Given the description of an element on the screen output the (x, y) to click on. 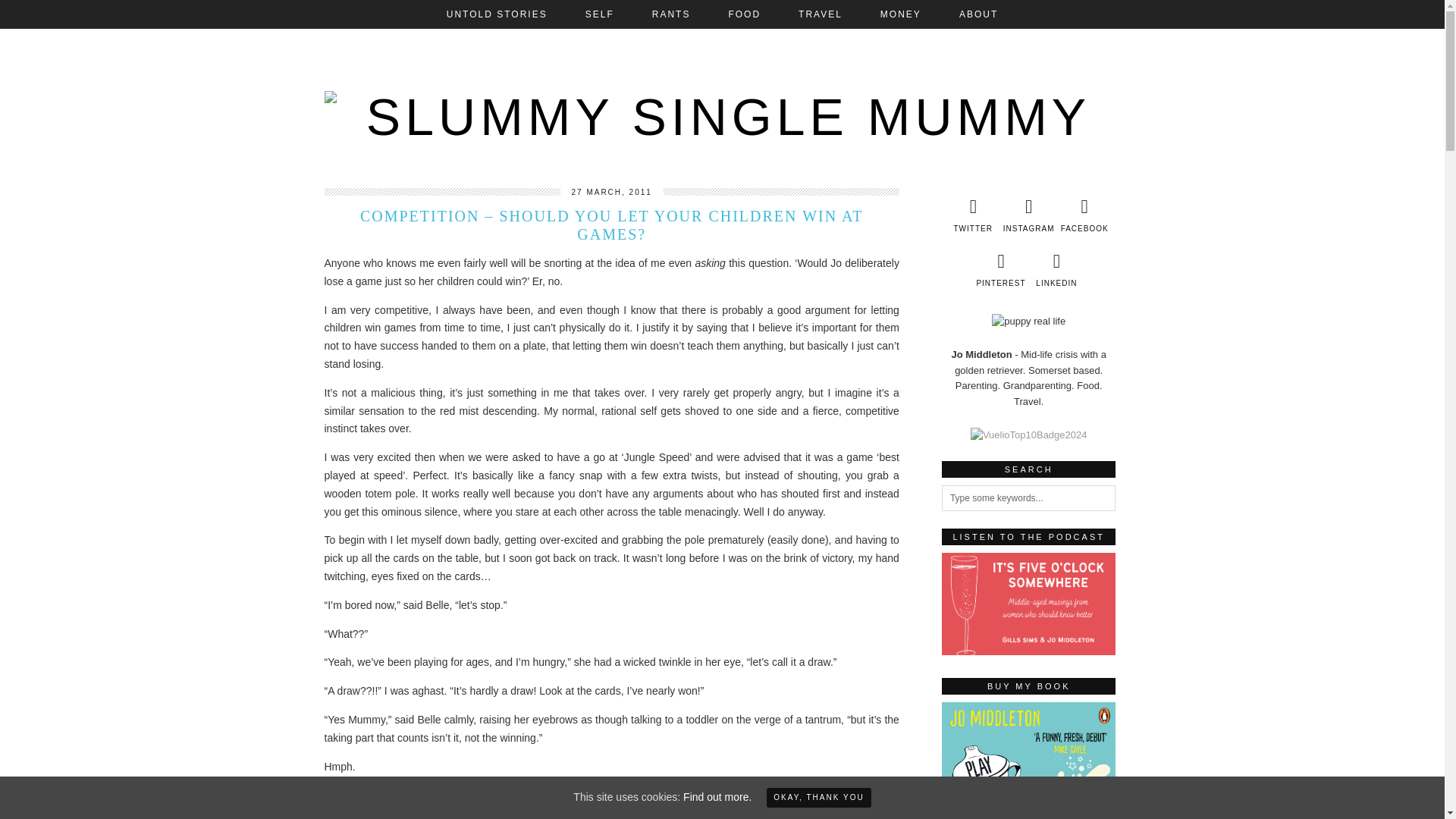
MONEY (900, 14)
facebook (1084, 215)
instagram (1029, 215)
TRAVEL (819, 14)
linkedin (1056, 269)
Slummy single mummy (722, 104)
UNTOLD STORIES (497, 14)
twitter (972, 215)
Listen to the podcast (1029, 603)
RANTS (671, 14)
SELF (599, 14)
FOOD (743, 14)
pinterest (999, 269)
ABOUT (978, 14)
